Given the description of an element on the screen output the (x, y) to click on. 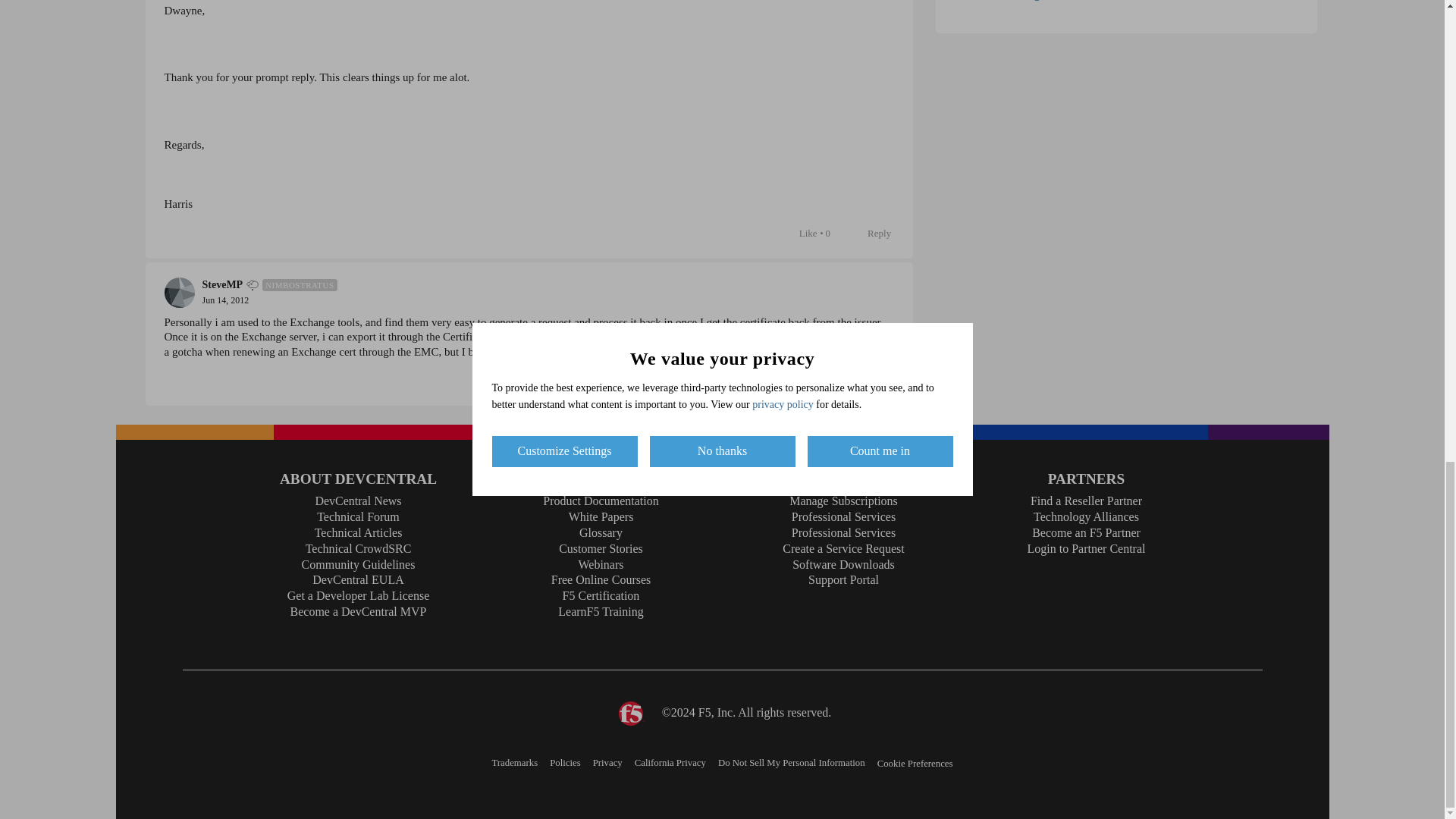
June 14, 2012 at 3:09 AM (225, 299)
